Given the description of an element on the screen output the (x, y) to click on. 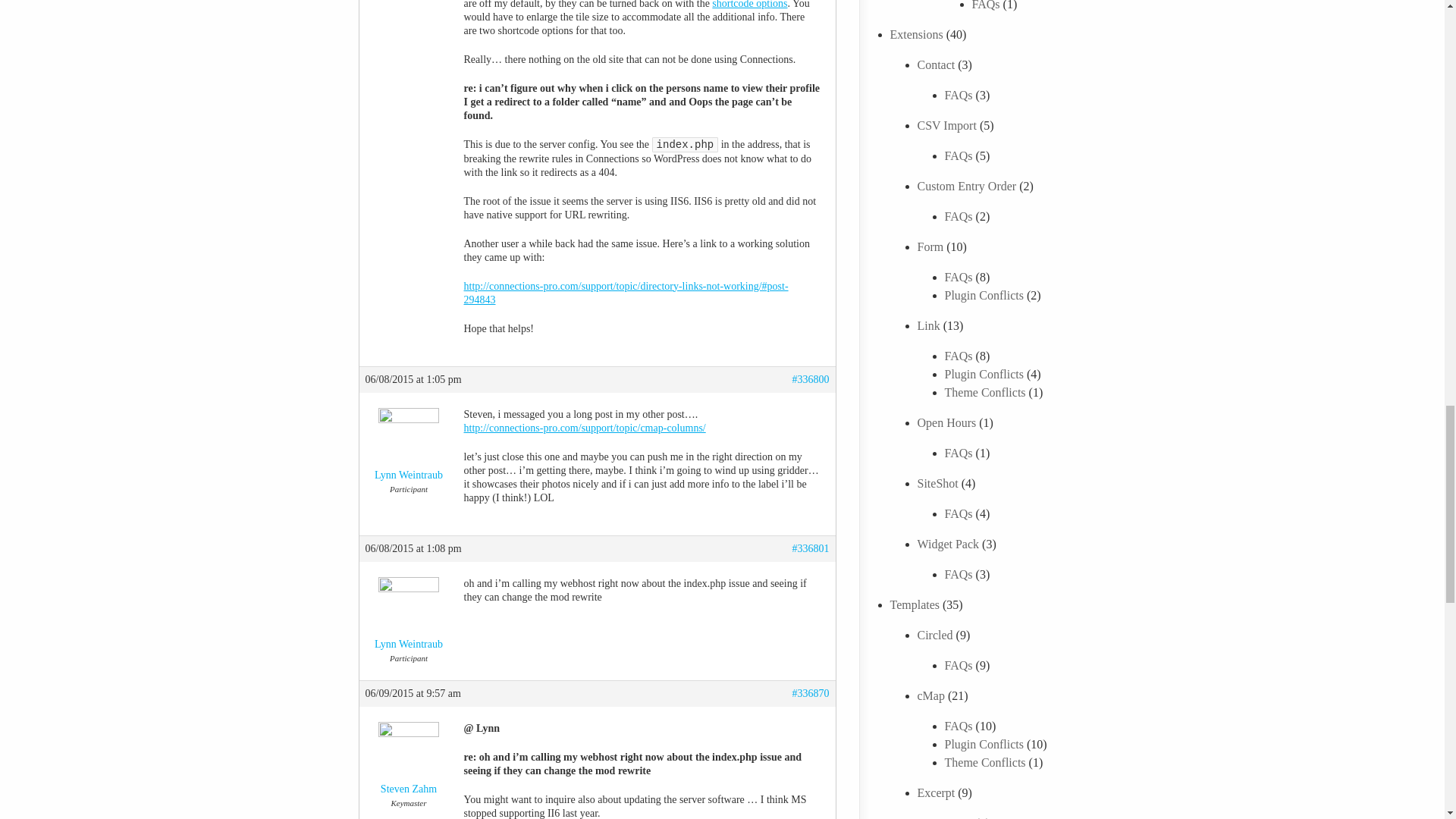
View Steven Zahm's profile (408, 762)
View Lynn Weintraub's profile (408, 448)
View Lynn Weintraub's profile (408, 617)
